Given the description of an element on the screen output the (x, y) to click on. 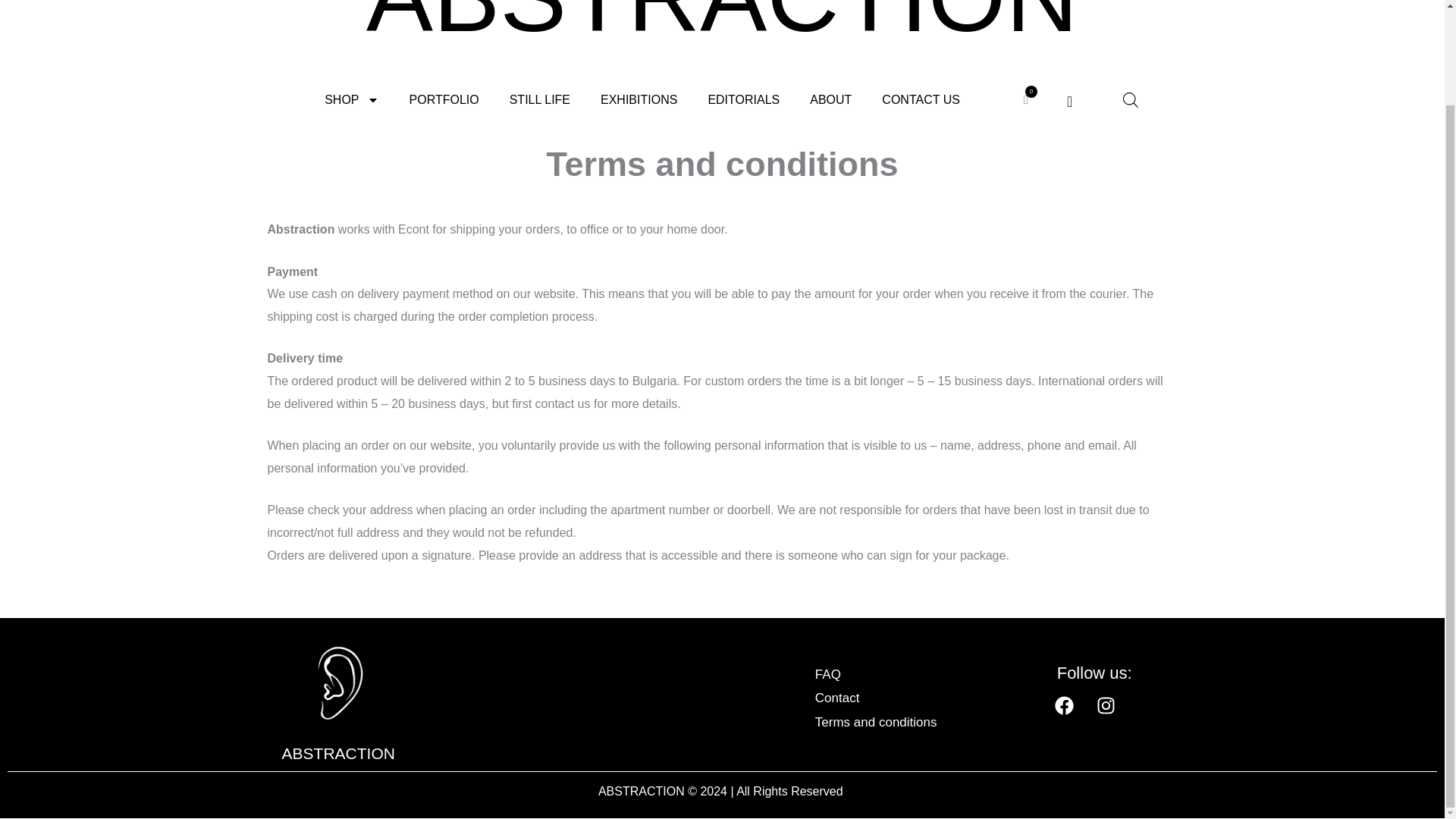
FAQ (906, 674)
CONTACT US (920, 99)
Contact (906, 698)
EDITORIALS (743, 99)
Instagram (1115, 714)
SHOP (350, 99)
STILL LIFE (540, 99)
Terms and conditions (906, 722)
ABSTRACTION (338, 753)
ABOUT (830, 99)
